Given the description of an element on the screen output the (x, y) to click on. 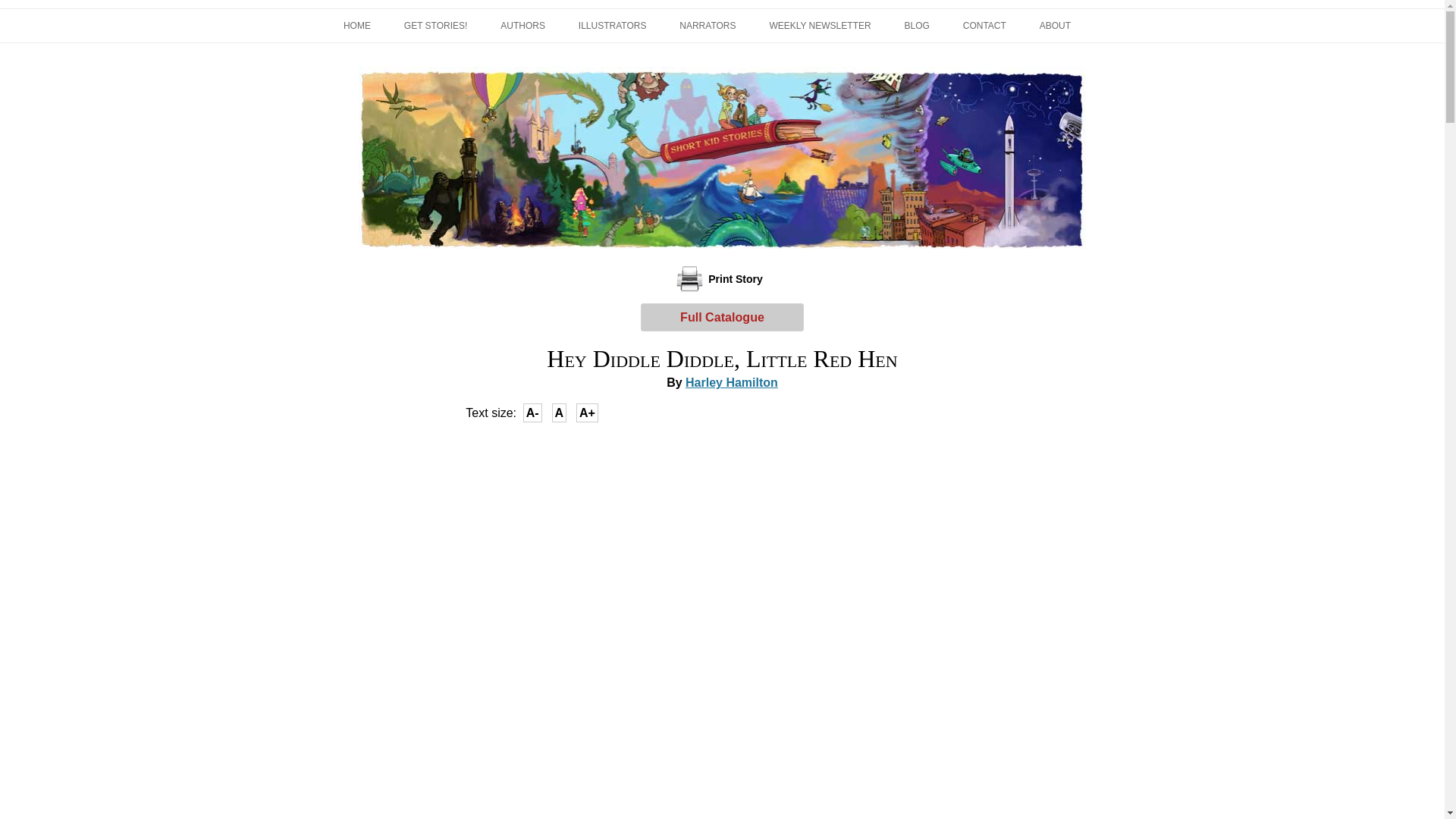
Click to go directly to stories for kids (435, 25)
Harley Hamilton (731, 382)
Illustrator submissions page (612, 25)
GET STORIES! (435, 25)
AUTHORS (522, 25)
CONTACT (984, 25)
ILLUSTRATORS (612, 25)
Full Catalogue (721, 317)
Click to increase text size (587, 412)
Print Story (722, 278)
Short Kid Stories (438, 66)
Skip to content (757, 13)
NARRATORS (707, 25)
WEEKLY NEWSLETTER (819, 25)
ABOUT (1054, 25)
